Given the description of an element on the screen output the (x, y) to click on. 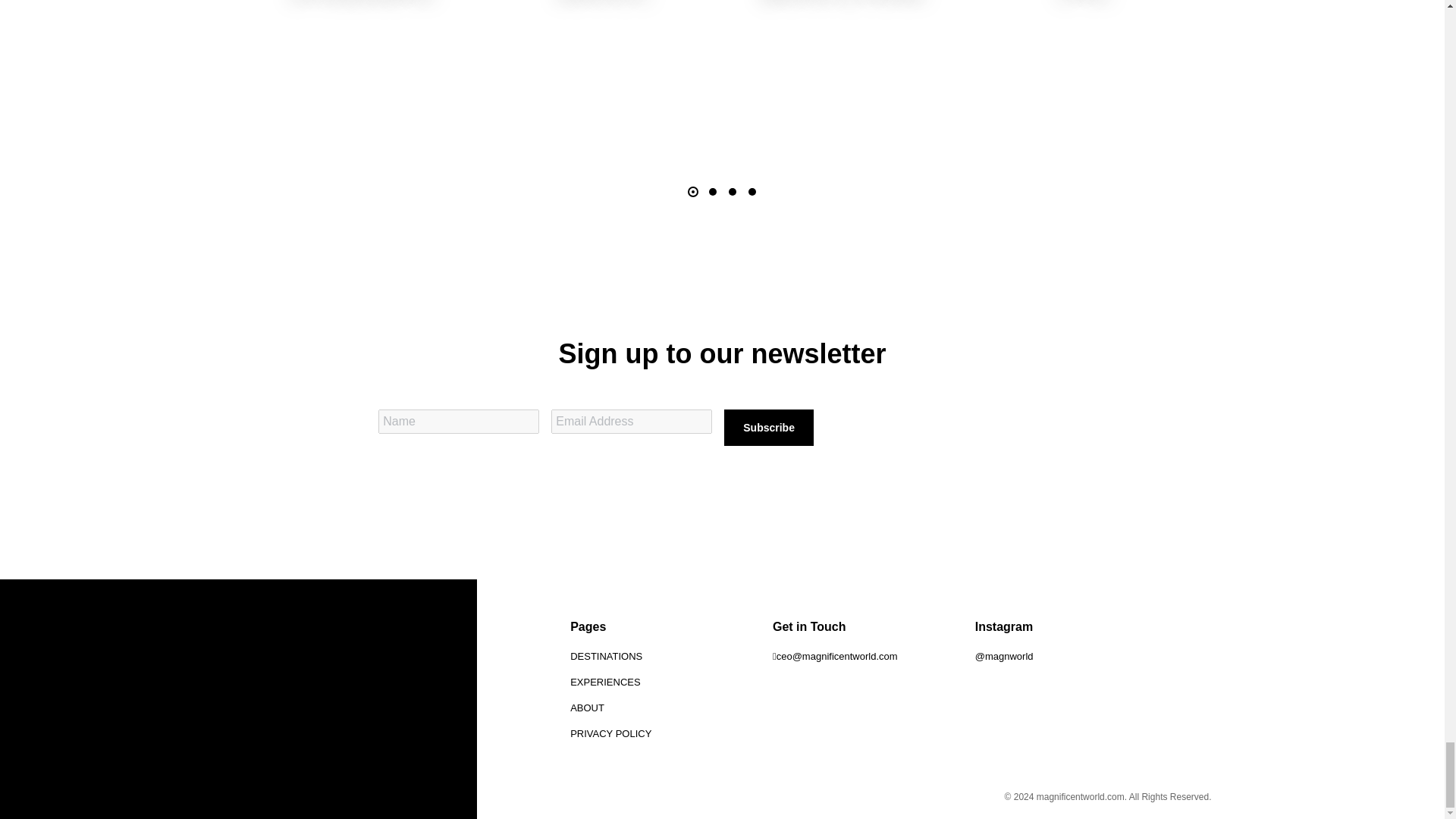
Subscribe (768, 427)
